Given the description of an element on the screen output the (x, y) to click on. 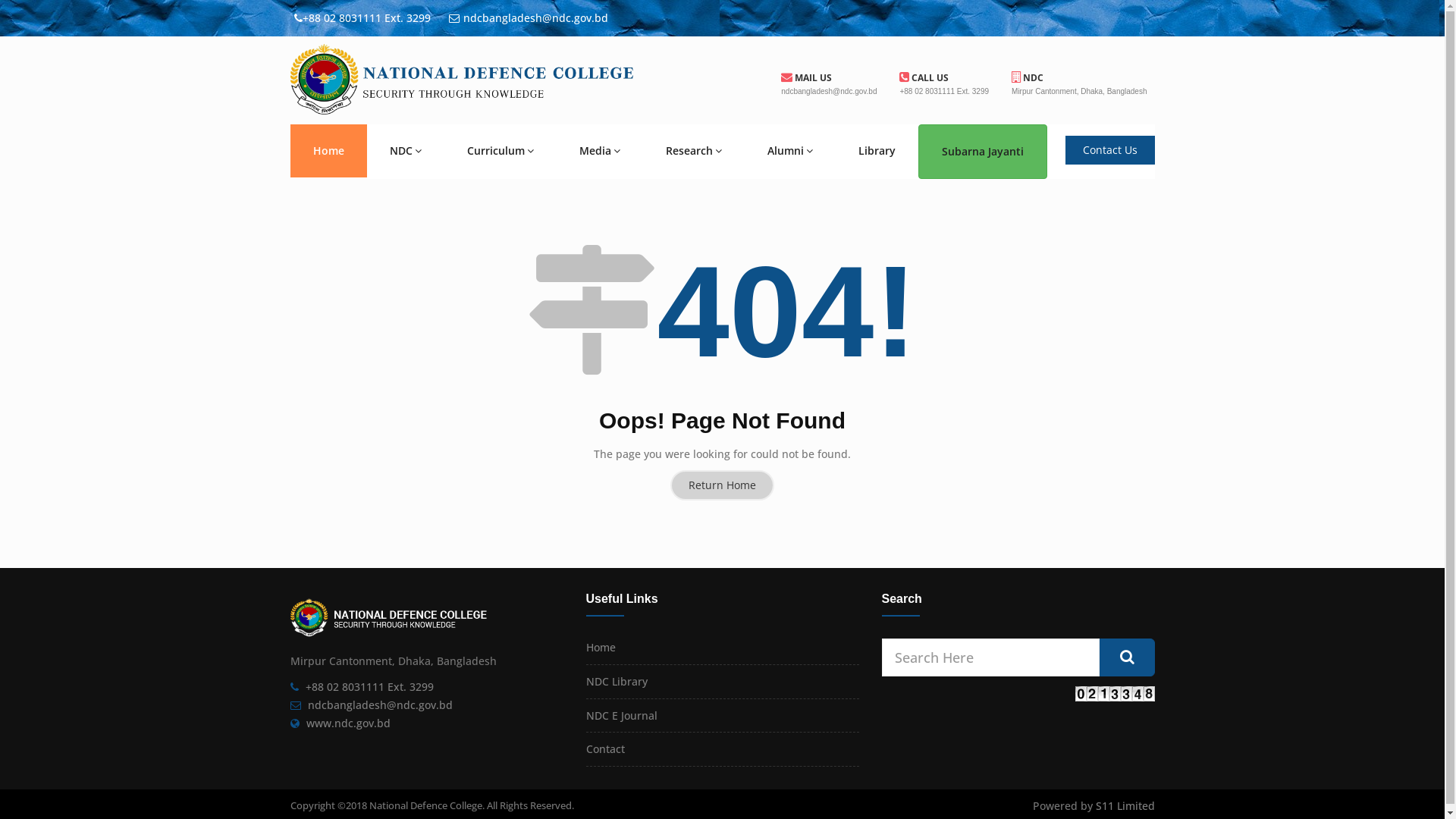
+88 02 8031111 Ext. 3299 Element type: text (368, 686)
Free Counter Element type: hover (1114, 693)
Media Element type: text (599, 150)
S11 Limited Element type: text (1124, 805)
Research Element type: text (693, 150)
NDC E Journal Element type: text (620, 715)
Home Element type: text (600, 647)
ndcbangladesh@ndc.gov.bd Element type: text (379, 704)
Home Element type: text (327, 150)
NDC Element type: text (405, 150)
Contact Us Element type: text (1109, 149)
NDC Element type: text (1027, 77)
Curriculum Element type: text (500, 150)
Return Home Element type: text (722, 484)
Alumni Element type: text (789, 150)
www.ndc.gov.bd Element type: text (348, 722)
Contact Element type: text (604, 748)
Subarna Jayanti Element type: text (981, 151)
MAIL US Element type: text (806, 77)
NDC Library Element type: text (615, 681)
CALL US Element type: text (923, 77)
Library Element type: text (876, 150)
